Given the description of an element on the screen output the (x, y) to click on. 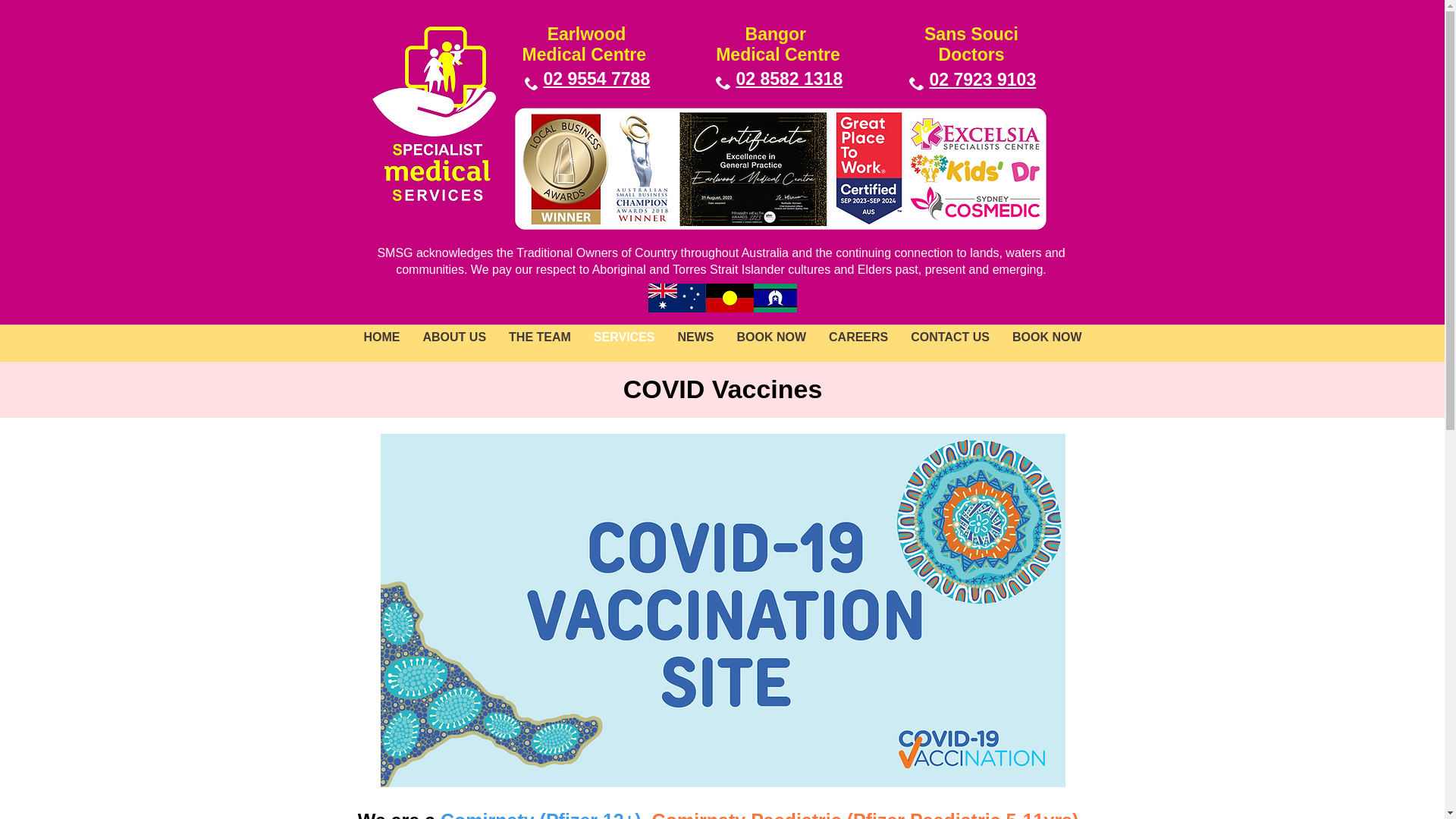
02 9554 7788 Element type: text (595, 78)
CONTACT US Element type: text (950, 343)
BOOK NOW Element type: text (770, 343)
360_F_421509616_AW4LfRfbYST8T2ZT9gFGxGWf Element type: hover (984, 204)
THE TEAM Element type: text (539, 343)
HOME Element type: text (381, 343)
02 7923 9103 Element type: text (982, 79)
SERVICES Element type: text (624, 343)
360_F_421509616_AW4LfRfbYST8T2ZT9gFGxGWf Element type: hover (984, 164)
360_F_421509616_AW4LfRfbYST8T2ZT9gFGxGWf Element type: hover (984, 128)
NEWS Element type: text (694, 343)
360_F_421509616_AW4LfRfbYST8T2ZT9gFGxGWf Element type: hover (871, 166)
CAREERS Element type: text (858, 343)
ABOUT US Element type: text (454, 343)
02 8582 1318 Element type: text (788, 78)
360_F_421509616_AW4LfRfbYST8T2ZT9gFGxGWf Element type: hover (672, 165)
